Given the description of an element on the screen output the (x, y) to click on. 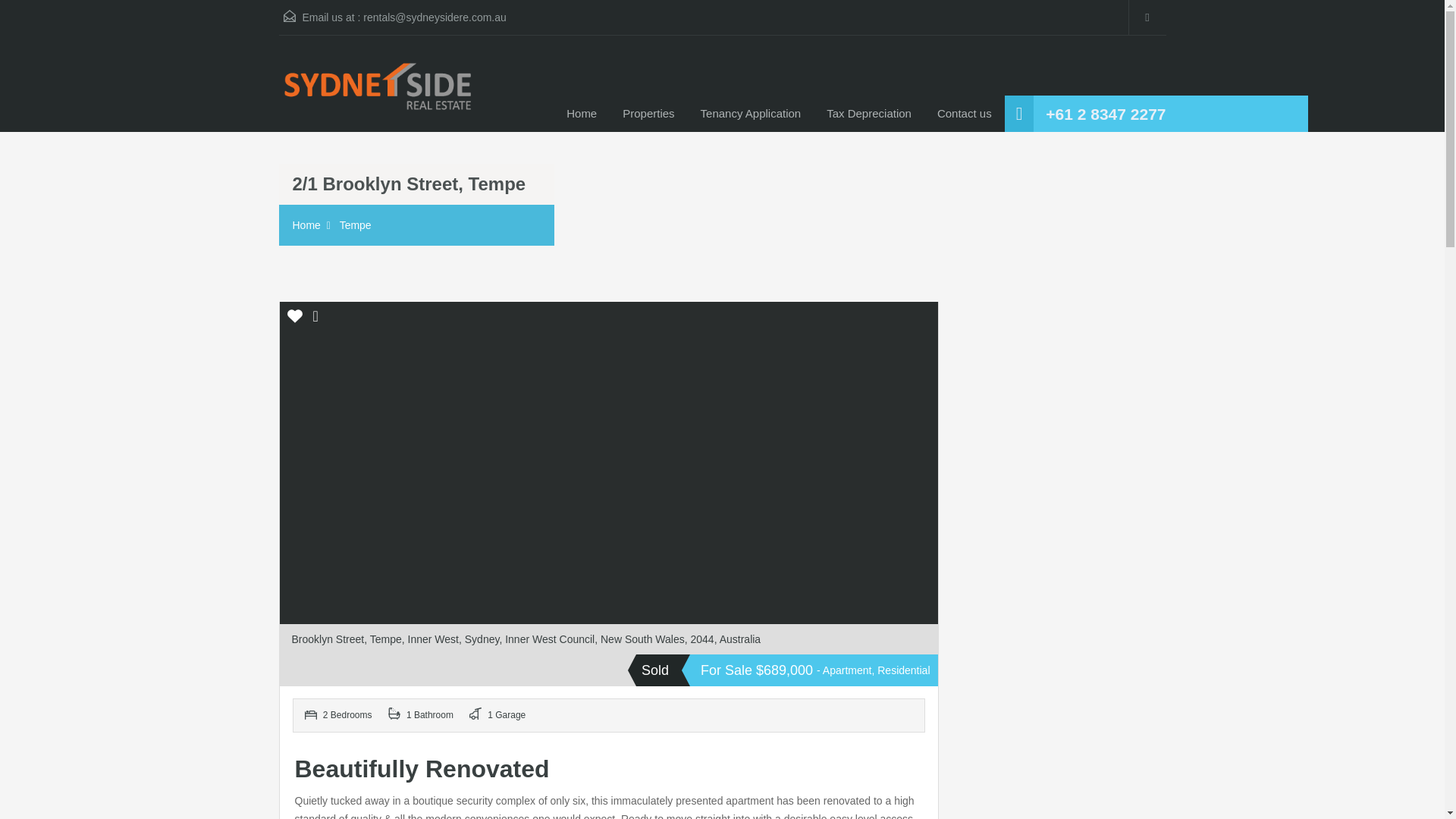
Add to favorite (293, 321)
Home (581, 113)
Contact us (964, 113)
Sydney Side Real Estate (377, 94)
Tax Depreciation (868, 113)
Tenancy Application (750, 113)
Make a Call (1105, 114)
Properties (648, 113)
